Given the description of an element on the screen output the (x, y) to click on. 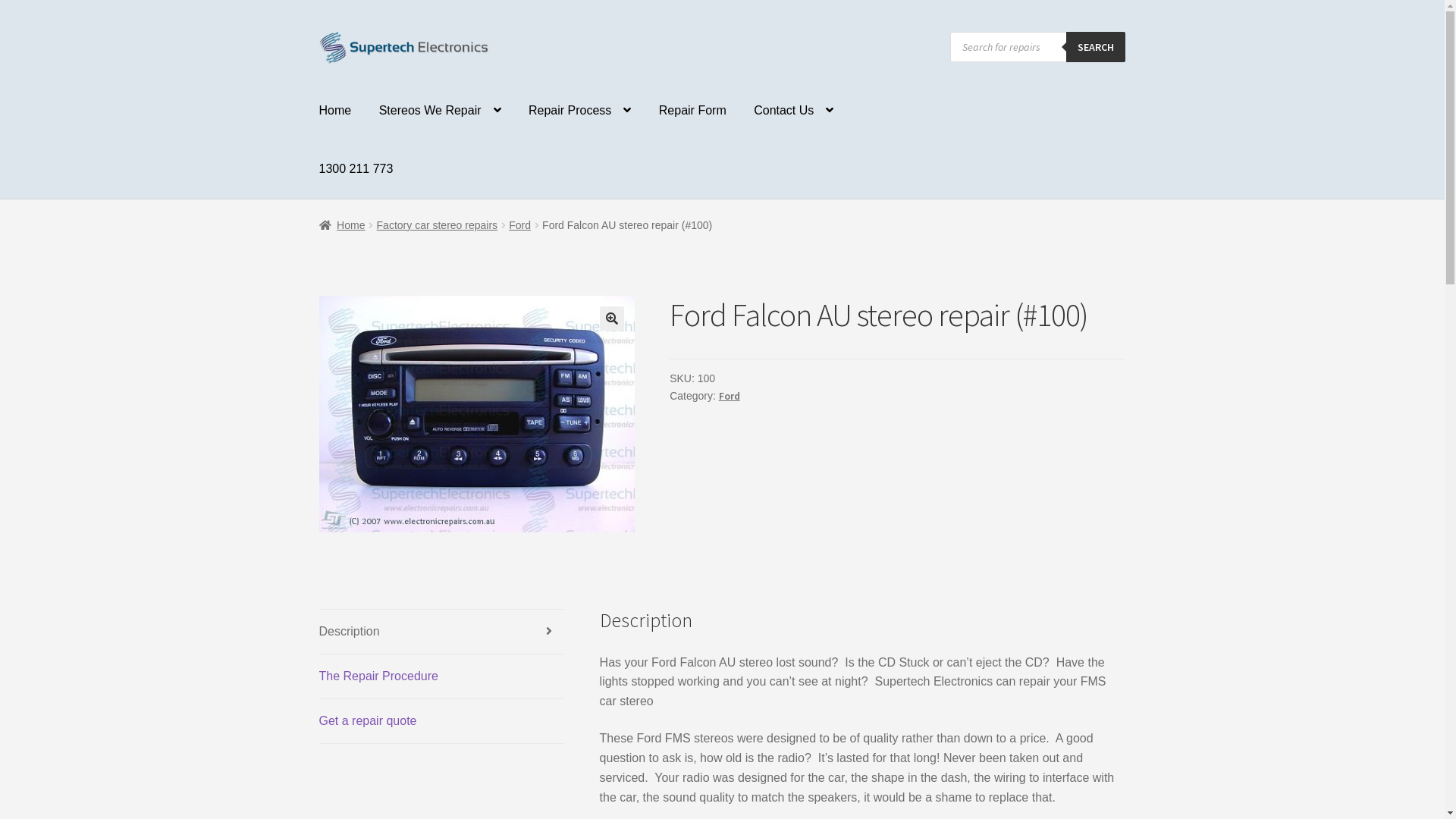
Factory car stereo repairs Element type: text (437, 225)
Home Element type: text (335, 110)
Ford Falcon AU Stereo Repair Element type: hover (476, 413)
Description Element type: text (441, 631)
Repair Form Element type: text (692, 110)
Ford Element type: text (519, 225)
Repair Process Element type: text (579, 110)
Home Element type: text (342, 225)
SEARCH Element type: text (1095, 46)
Stereos We Repair Element type: text (440, 110)
1300 211 773 Element type: text (356, 168)
Contact Us Element type: text (793, 110)
Get a repair quote Element type: text (441, 721)
The Repair Procedure Element type: text (441, 676)
Ford Element type: text (729, 395)
Skip to navigation Element type: text (318, 31)
